Given the description of an element on the screen output the (x, y) to click on. 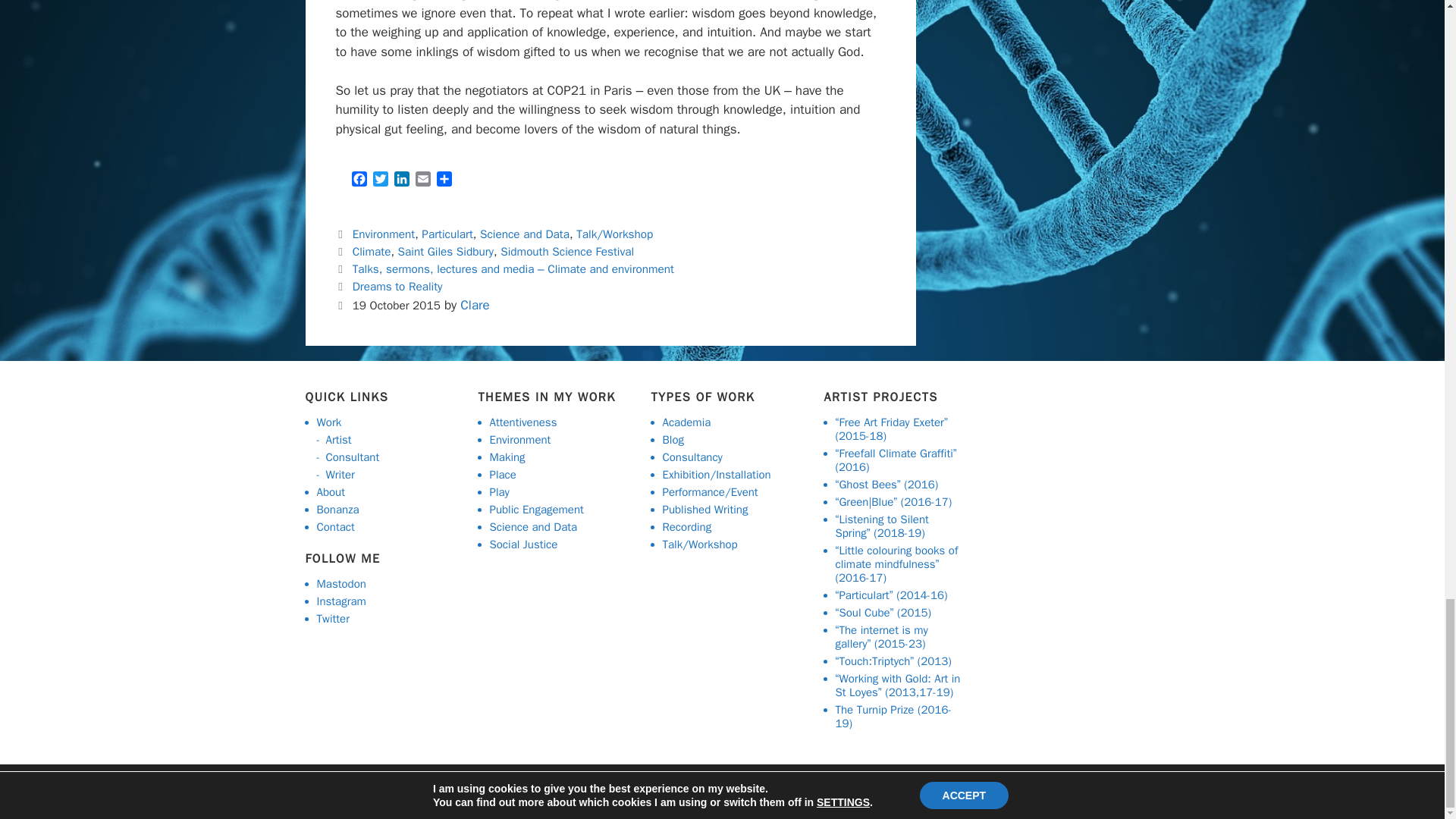
Sidmouth Science Festival (566, 251)
Email (422, 180)
Climate (371, 251)
LinkedIn (401, 180)
Twitter (380, 180)
Twitter (380, 180)
Dreams to Reality (397, 286)
LinkedIn (401, 180)
Environment (383, 233)
View all posts by Clare (474, 304)
